Given the description of an element on the screen output the (x, y) to click on. 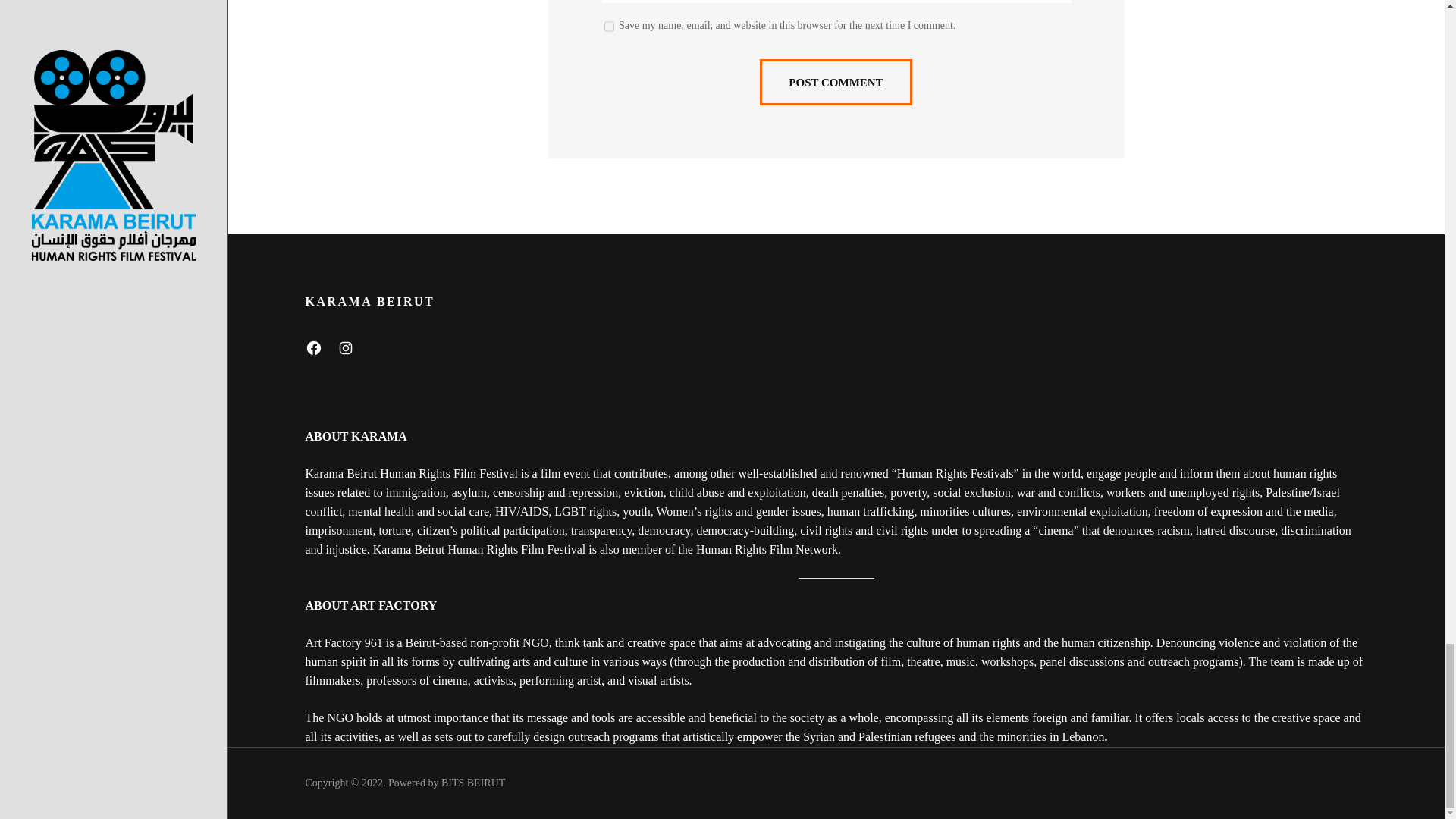
Instagram (345, 347)
BITS BEIRUT (473, 782)
Facebook (313, 347)
Post Comment (836, 81)
Post Comment (836, 81)
